Given the description of an element on the screen output the (x, y) to click on. 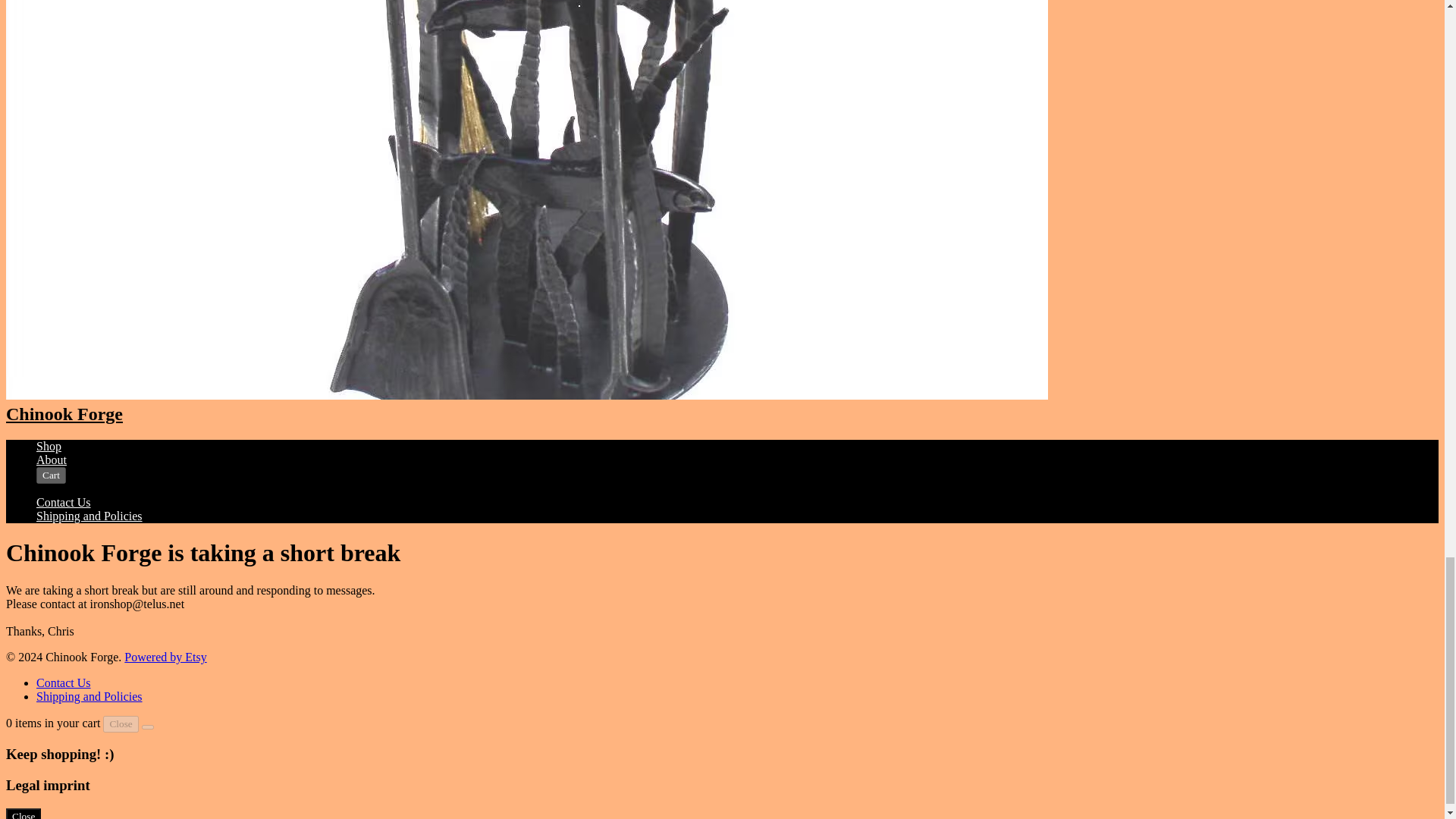
Contact Us (63, 682)
Cart (50, 475)
Shipping and Policies (89, 515)
Close (120, 723)
Shipping and Policies (89, 696)
About (51, 459)
Contact Us (63, 502)
Shop (48, 445)
Powered by Etsy (164, 656)
